Given the description of an element on the screen output the (x, y) to click on. 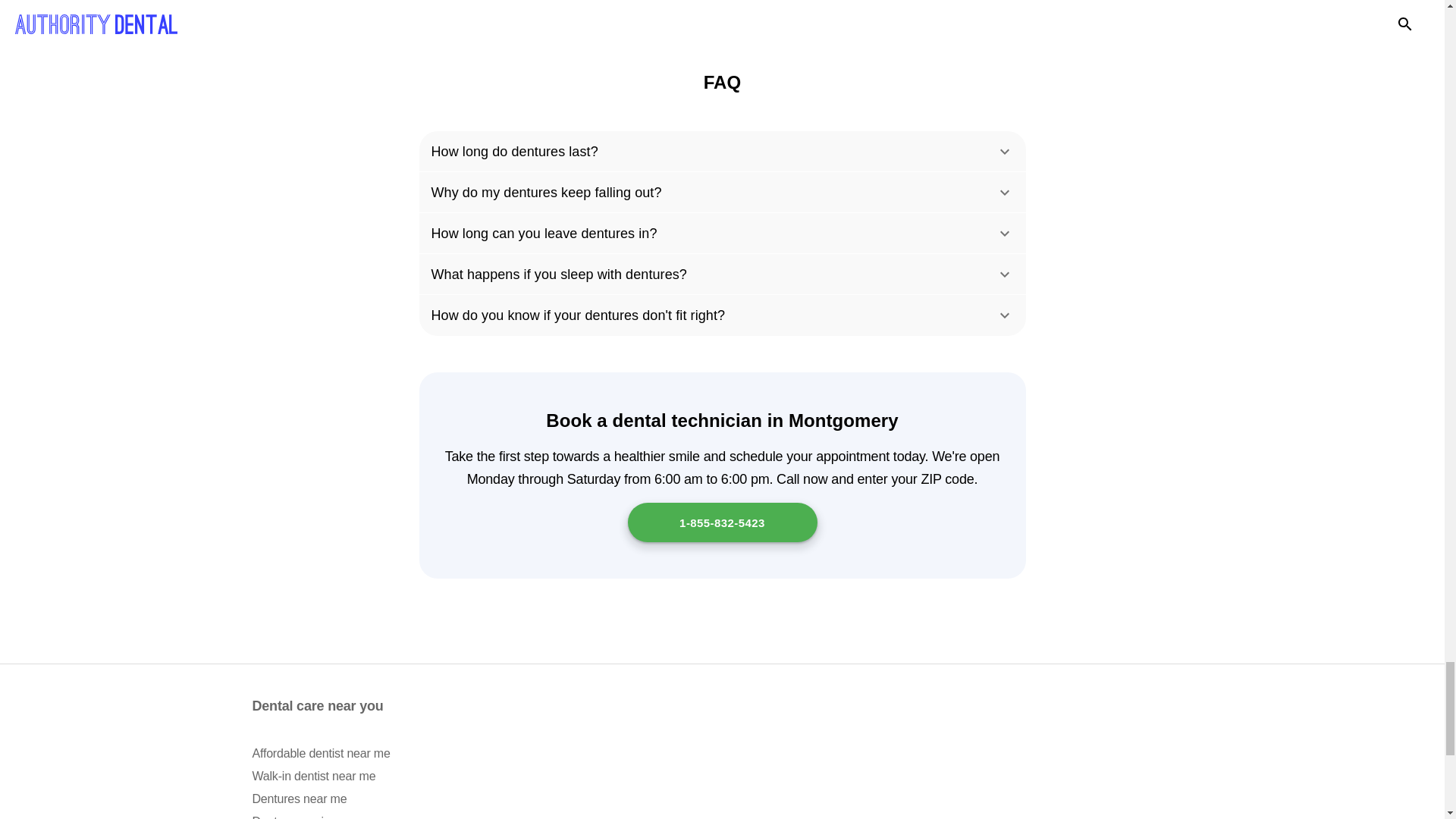
Affordable dentist near me (320, 753)
Dentures near me (298, 798)
Walk-in dentist near me (313, 775)
Denture repair near me (312, 816)
1-855-832-5423 (721, 522)
